Given the description of an element on the screen output the (x, y) to click on. 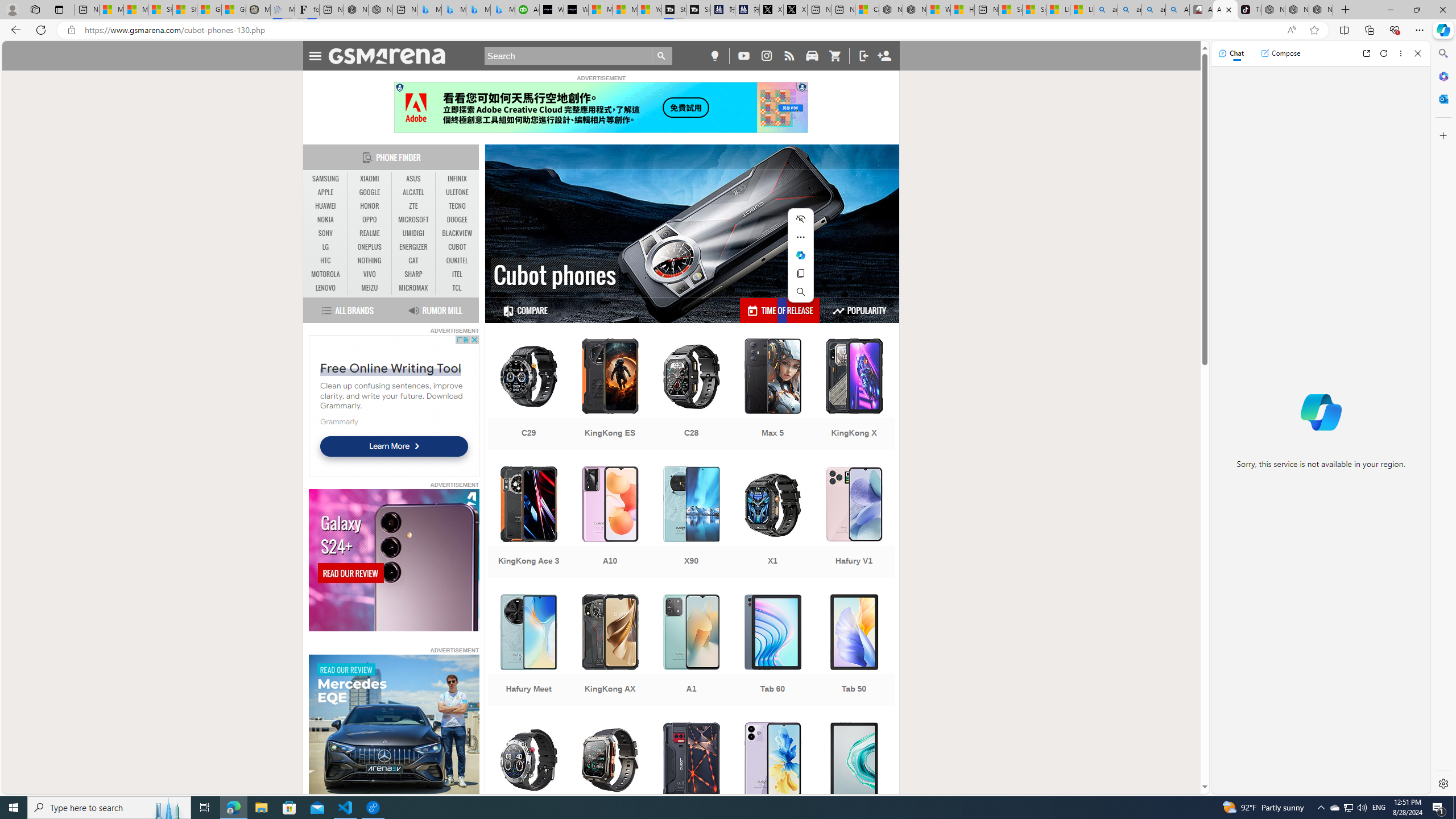
Hafury V1 (853, 523)
Click Here (601, 106)
Chat (1231, 52)
KingKong X (853, 395)
REALME (369, 233)
MICROSOFT (413, 219)
TCL (457, 287)
